Given the description of an element on the screen output the (x, y) to click on. 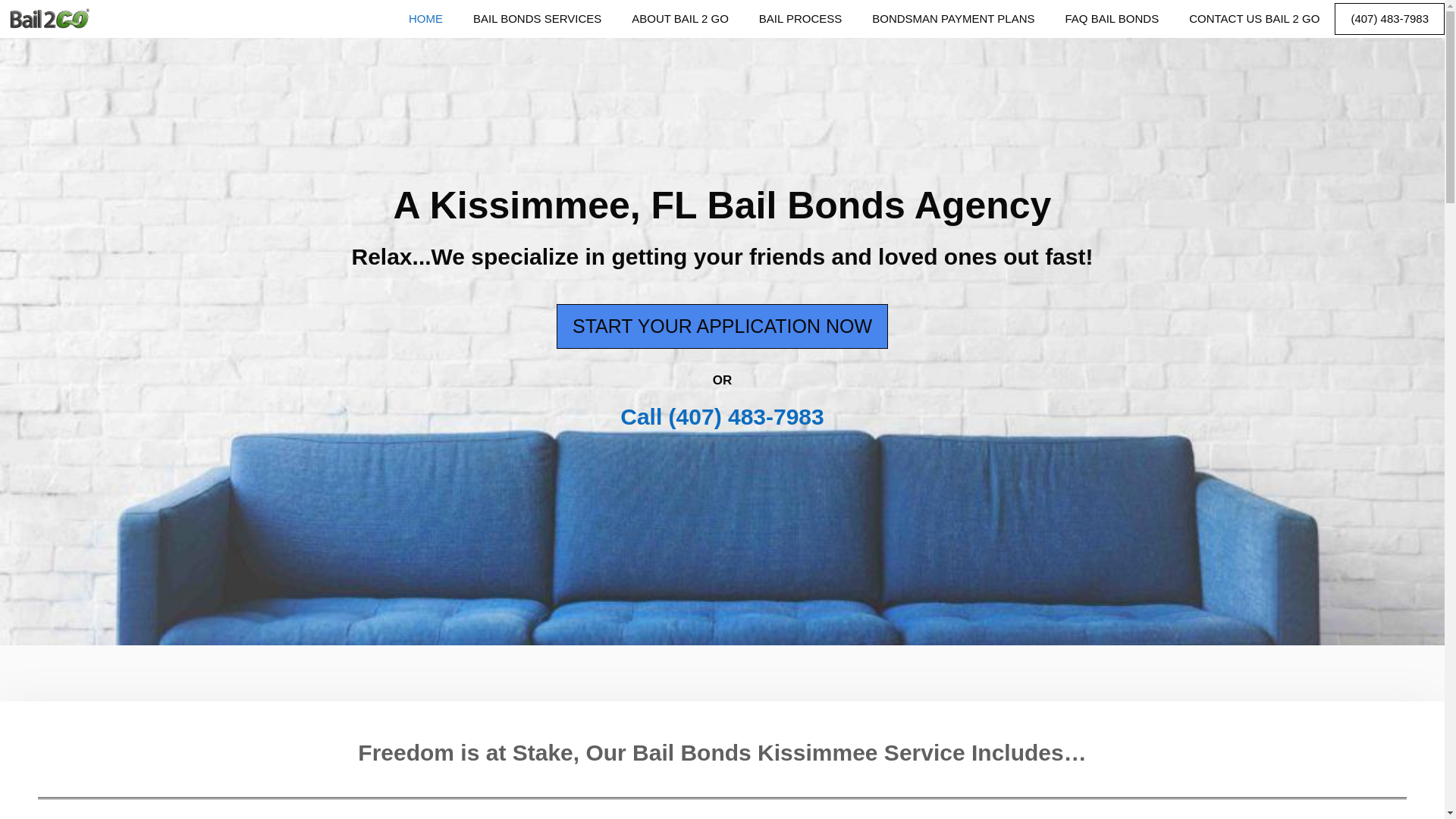
BAIL BONDS SERVICES (536, 18)
BONDSMAN PAYMENT PLANS (953, 18)
START YOUR APPLICATION NOW (722, 325)
BAIL PROCESS (800, 18)
ABOUT BAIL 2 GO (679, 18)
FAQ BAIL BONDS (1111, 18)
HOME (425, 18)
CONTACT US BAIL 2 GO (1254, 18)
